Given the description of an element on the screen output the (x, y) to click on. 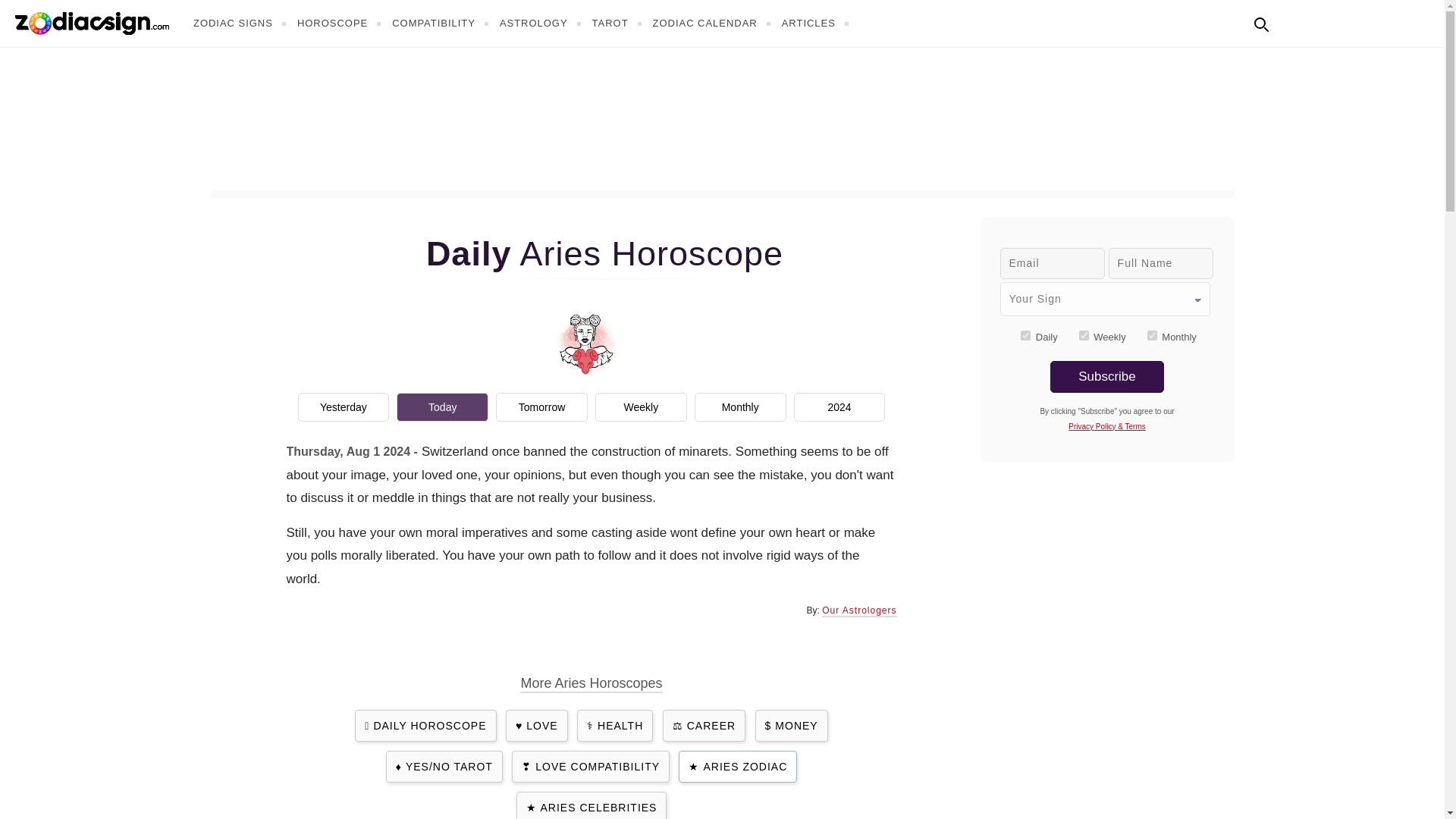
In English (1294, 21)
weekly (1083, 335)
HOROSCOPE (341, 23)
ZODIAC SIGNS (241, 23)
daily (1025, 335)
monthly (1152, 335)
